Given the description of an element on the screen output the (x, y) to click on. 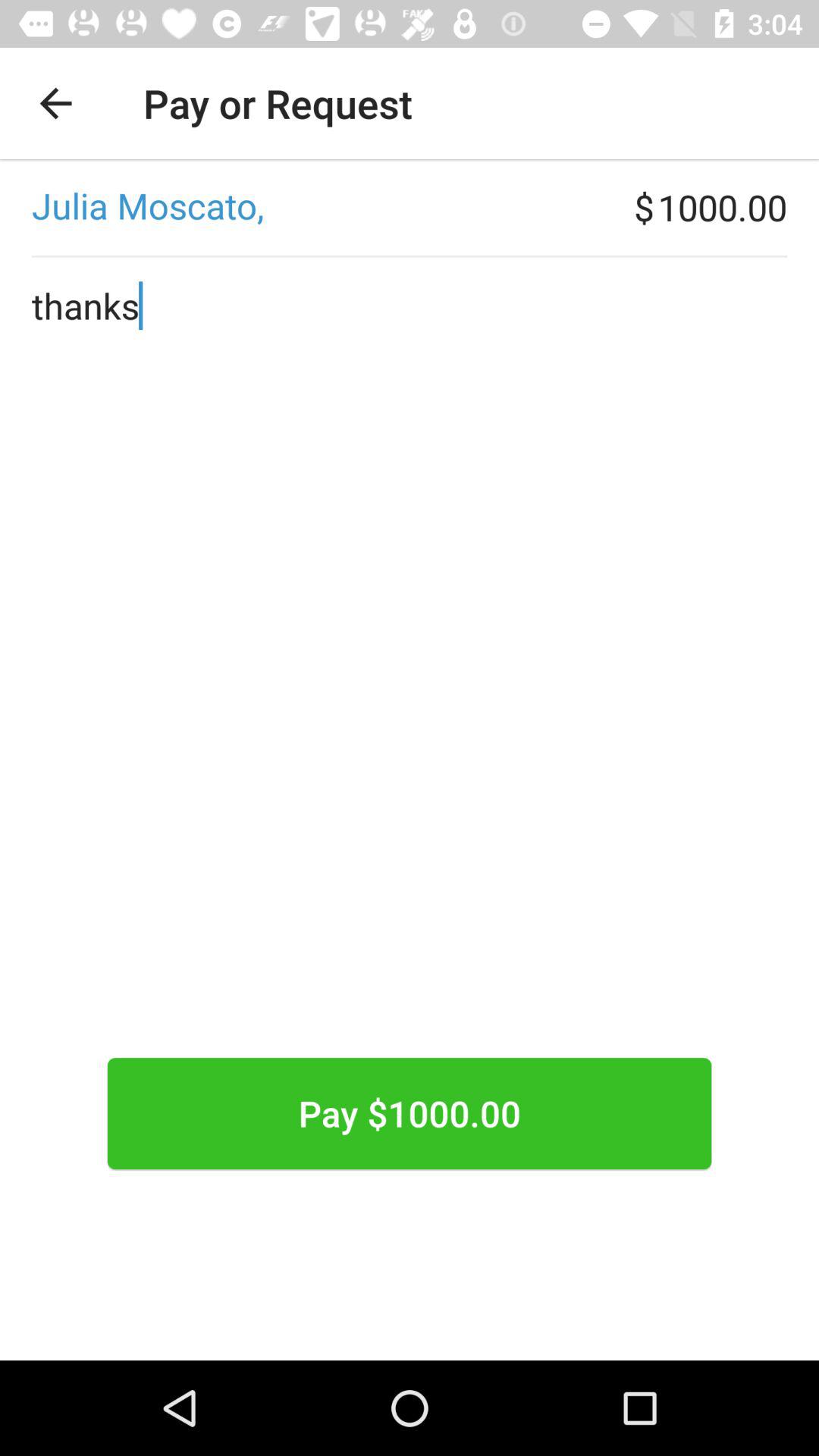
tap icon at the center (409, 705)
